Given the description of an element on the screen output the (x, y) to click on. 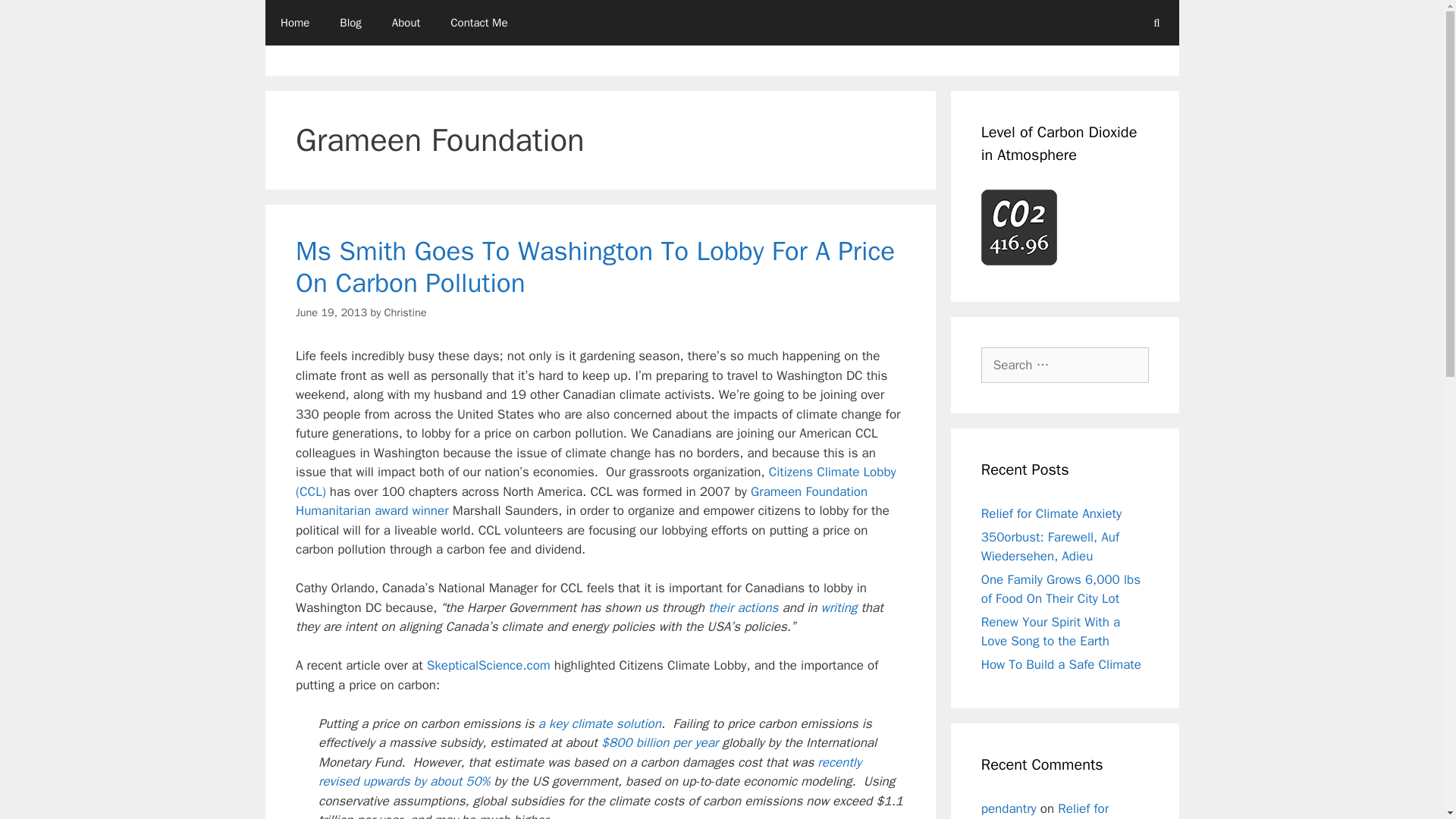
writing (838, 607)
About (406, 22)
SkepticalScience.com (486, 665)
Relief for Climate Anxiety (1051, 513)
a key climate solution (599, 723)
Search (35, 18)
Search for: (1064, 365)
Contact Me (478, 22)
How To Build a Safe Climate (1061, 664)
